Given the description of an element on the screen output the (x, y) to click on. 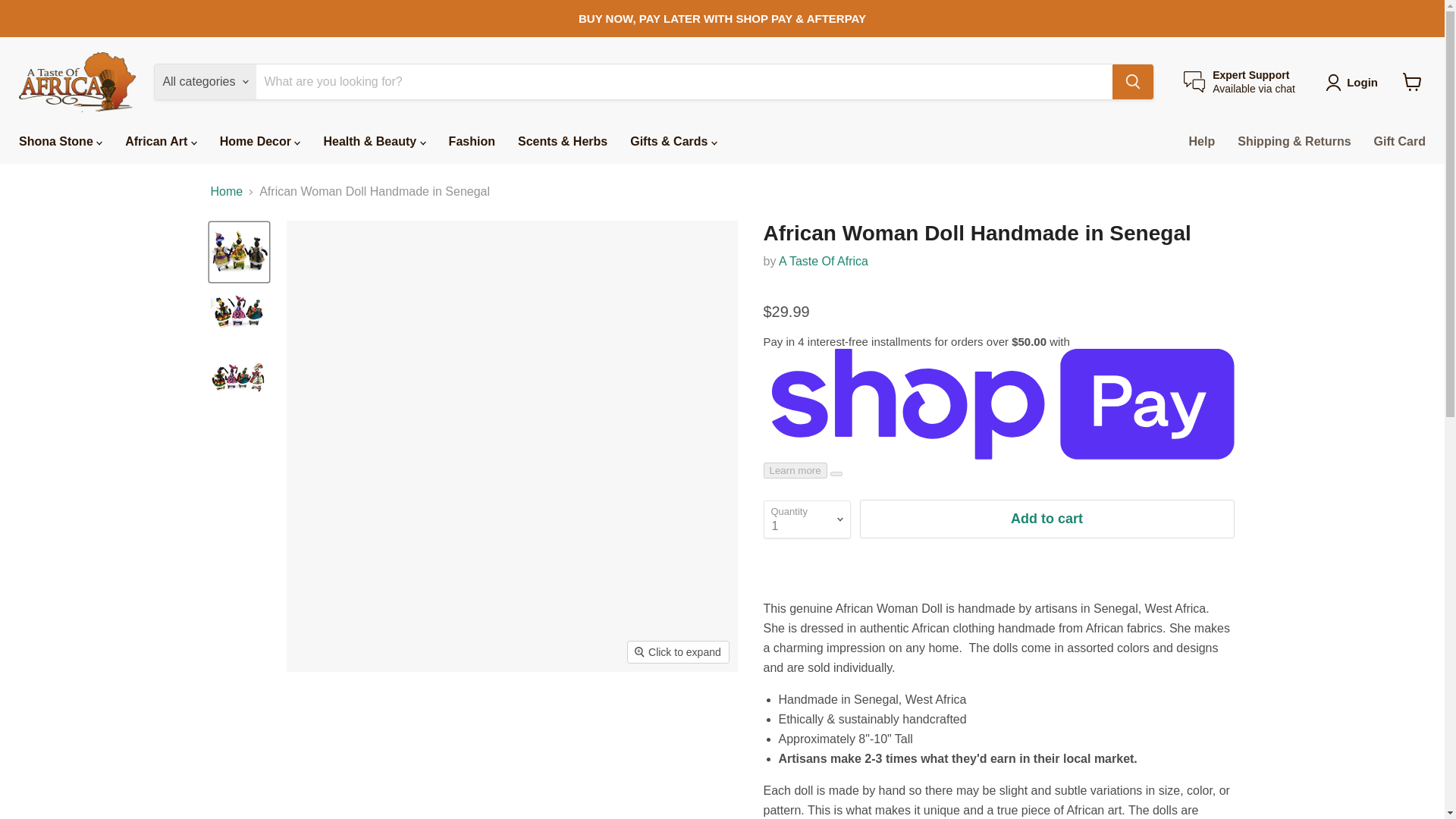
A Taste Of Africa (822, 260)
Login (1362, 81)
View cart (1239, 81)
